Given the description of an element on the screen output the (x, y) to click on. 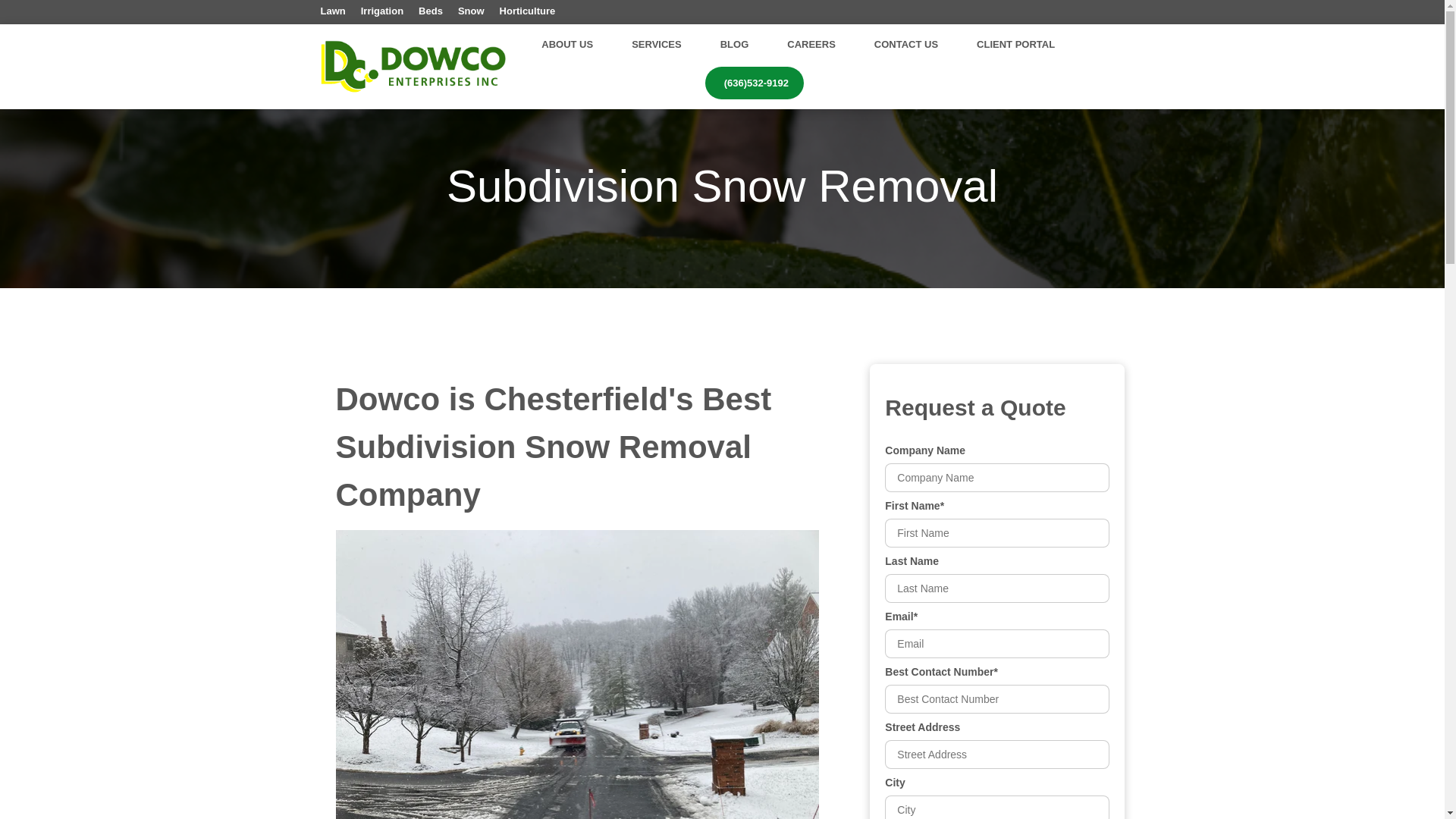
SERVICES (656, 45)
Snow (471, 11)
Dowco Enterprises Inc. (412, 66)
Beds (430, 11)
Horticulture (527, 11)
ABOUT US (566, 43)
Irrigation (382, 11)
Lawn (332, 11)
